Given the description of an element on the screen output the (x, y) to click on. 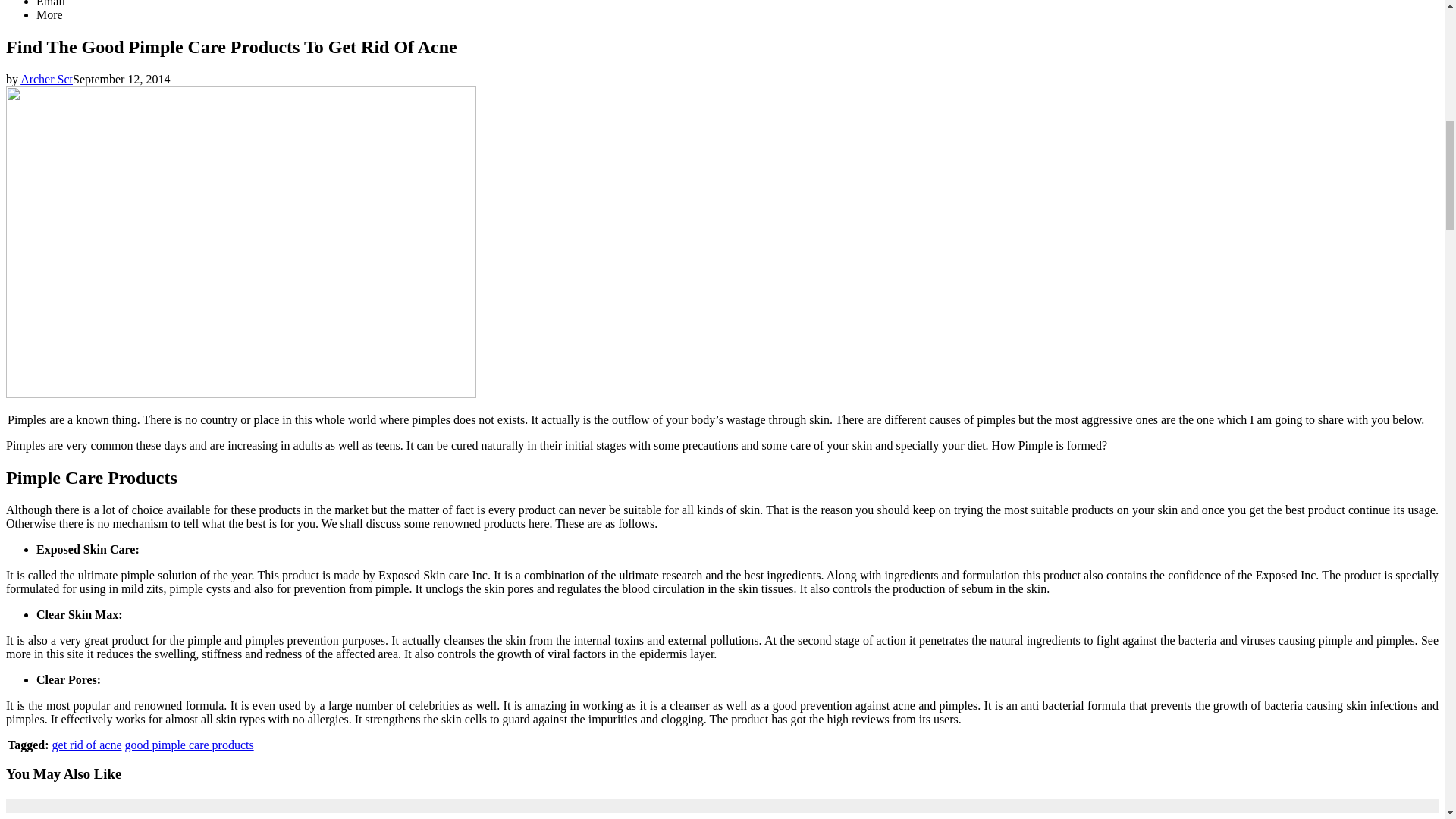
More (49, 14)
Share via Email (50, 3)
More (49, 14)
Email (50, 3)
